Given the description of an element on the screen output the (x, y) to click on. 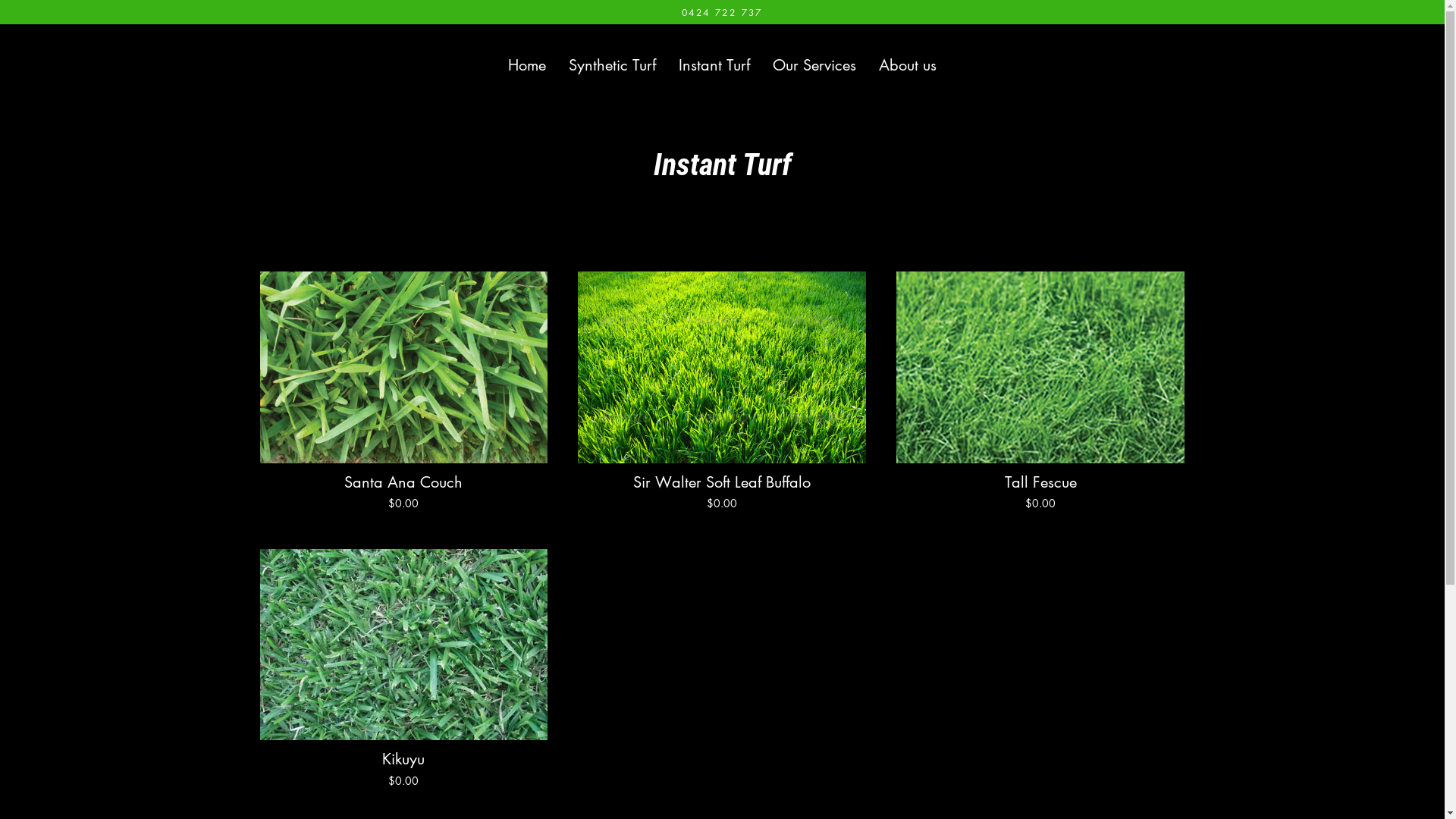
Tall Fescue
$0.00 Element type: text (1040, 394)
Santa Ana Couch
$0.00 Element type: text (403, 394)
Home Element type: text (526, 64)
Kikuyu
$0.00 Element type: text (403, 672)
Our Services Element type: text (814, 64)
Instant Turf Element type: text (714, 64)
About us Element type: text (907, 64)
Synthetic Turf Element type: text (612, 64)
Sir Walter Soft Leaf Buffalo
$0.00 Element type: text (721, 394)
Skip to content Element type: text (0, 0)
